Given the description of an element on the screen output the (x, y) to click on. 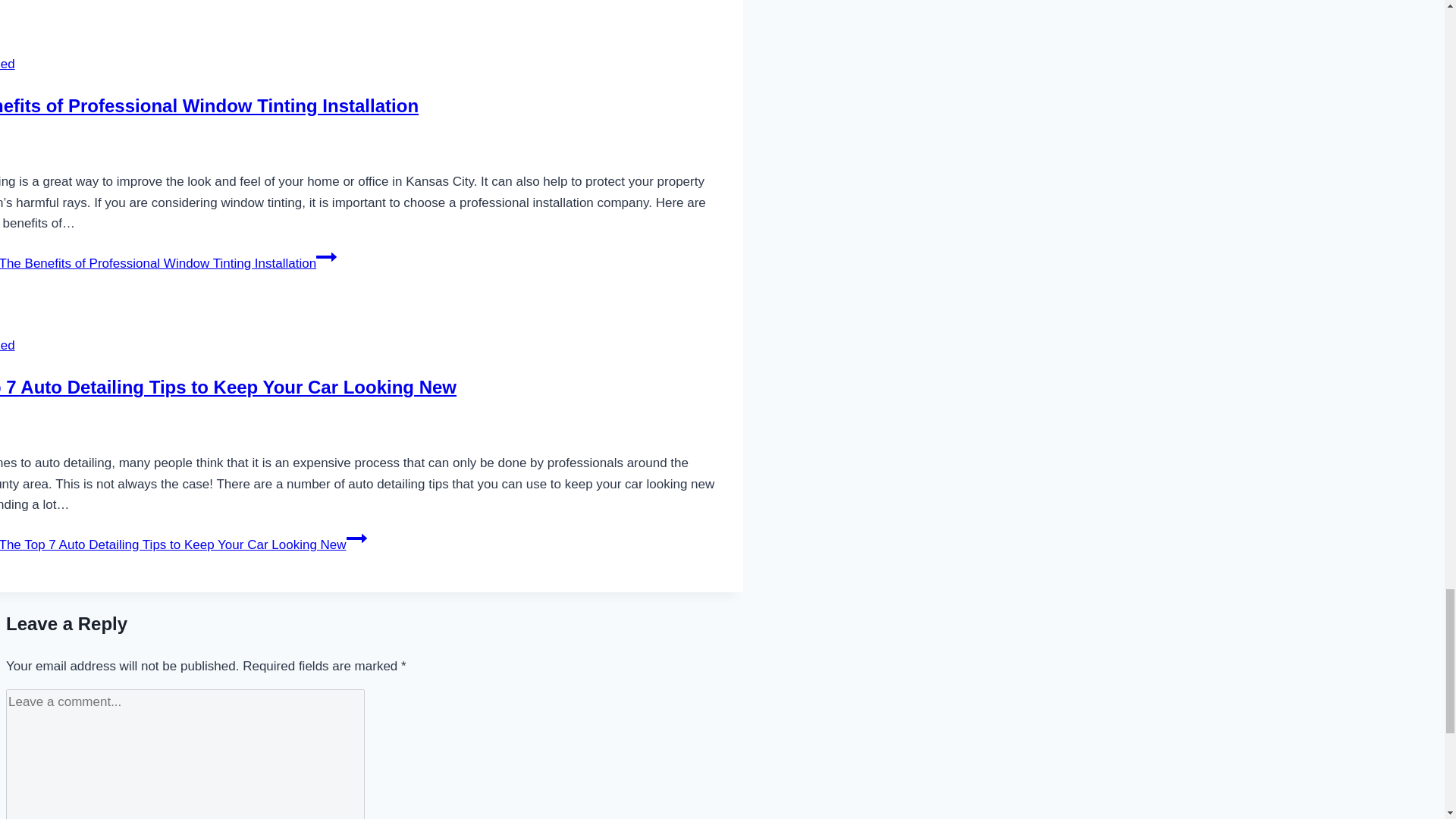
The Top 7 Auto Detailing Tips to Keep Your Car Looking New (228, 386)
Continue (325, 256)
Uncategorized (7, 345)
The Benefits of Professional Window Tinting Installation (209, 105)
Continue (356, 537)
Uncategorized (7, 63)
